Given the description of an element on the screen output the (x, y) to click on. 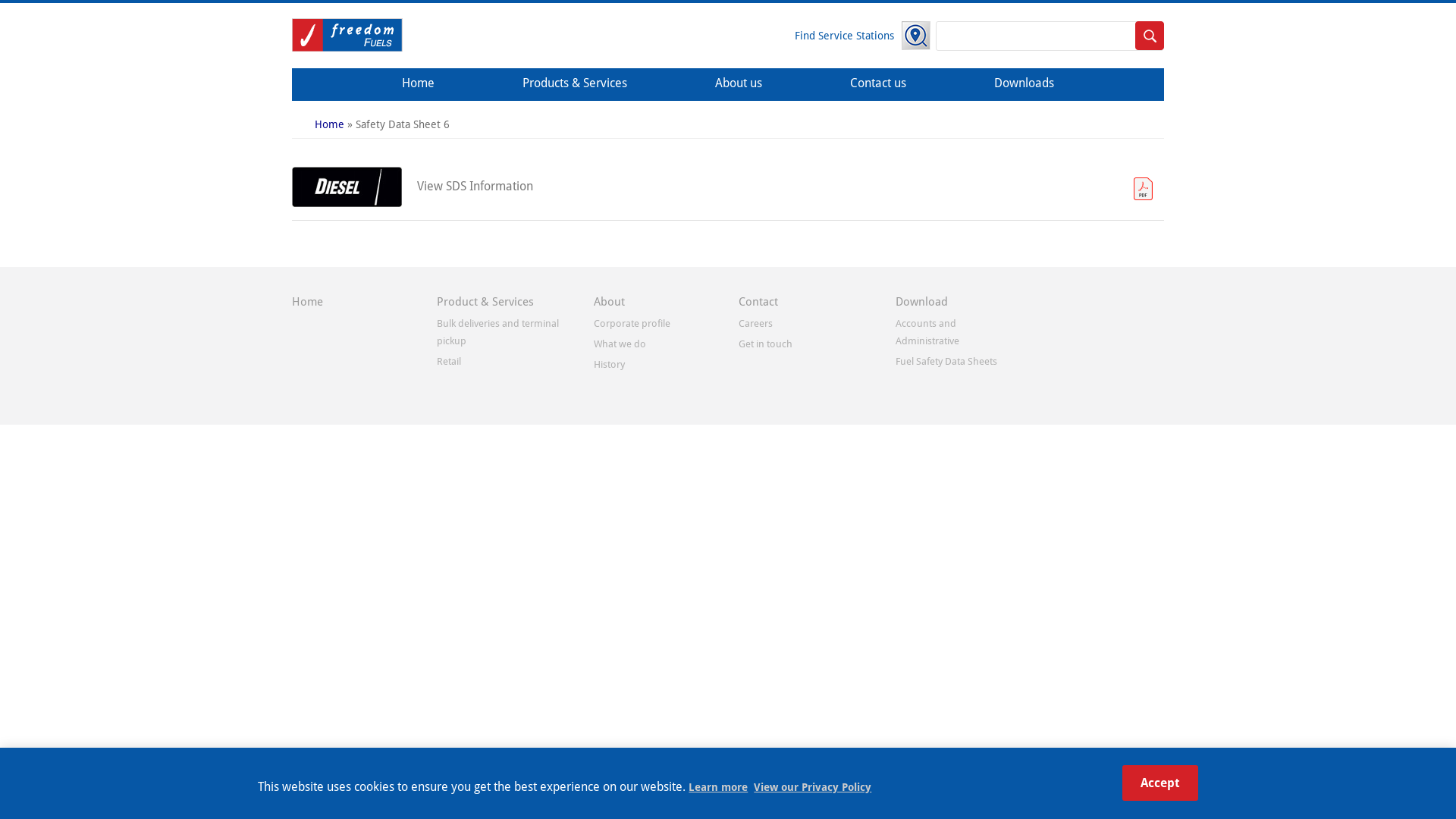
Home Element type: text (418, 84)
Search Element type: text (1149, 36)
Fuel Safety Data Sheets Element type: text (946, 361)
Accounts and Administrative Element type: text (927, 331)
History Element type: text (608, 364)
What we do Element type: text (619, 343)
Get in touch Element type: text (765, 343)
Contact us Element type: text (877, 84)
Corporate profile Element type: text (631, 323)
Accept Element type: text (1160, 782)
Home Element type: text (329, 124)
Learn more Element type: text (720, 787)
View SDS Information Element type: text (467, 180)
Home Element type: hover (354, 47)
Downloads Element type: text (1023, 84)
View our Privacy Policy Element type: text (812, 787)
Products & Services Element type: text (574, 84)
About us Element type: text (738, 84)
Retail Element type: text (448, 361)
Enter the terms you wish to search for. Element type: hover (1048, 35)
Careers Element type: text (755, 323)
Bulk deliveries and terminal pickup Element type: text (497, 331)
